Given the description of an element on the screen output the (x, y) to click on. 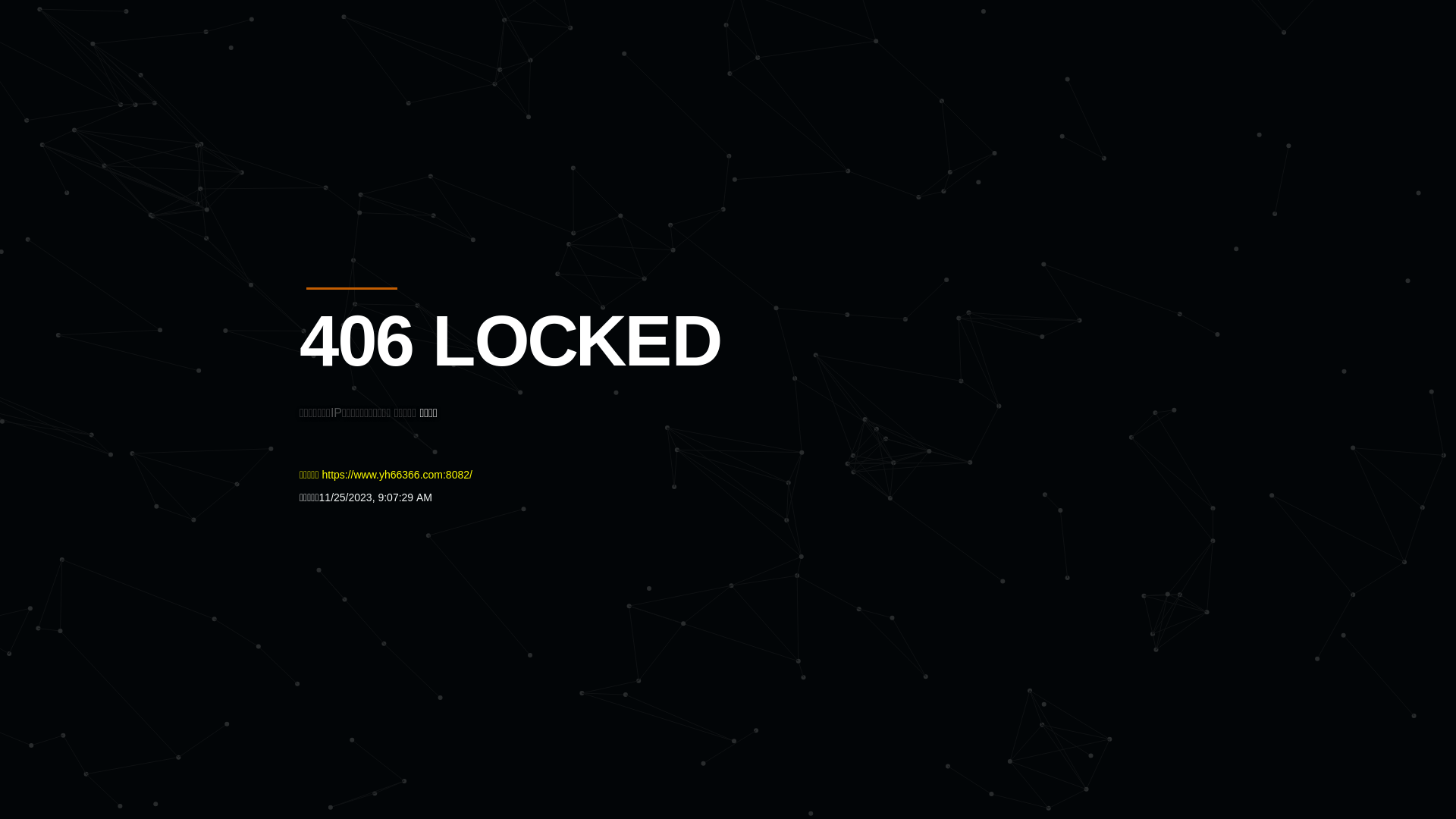
Quatro Element type: text (410, 86)
